Given the description of an element on the screen output the (x, y) to click on. 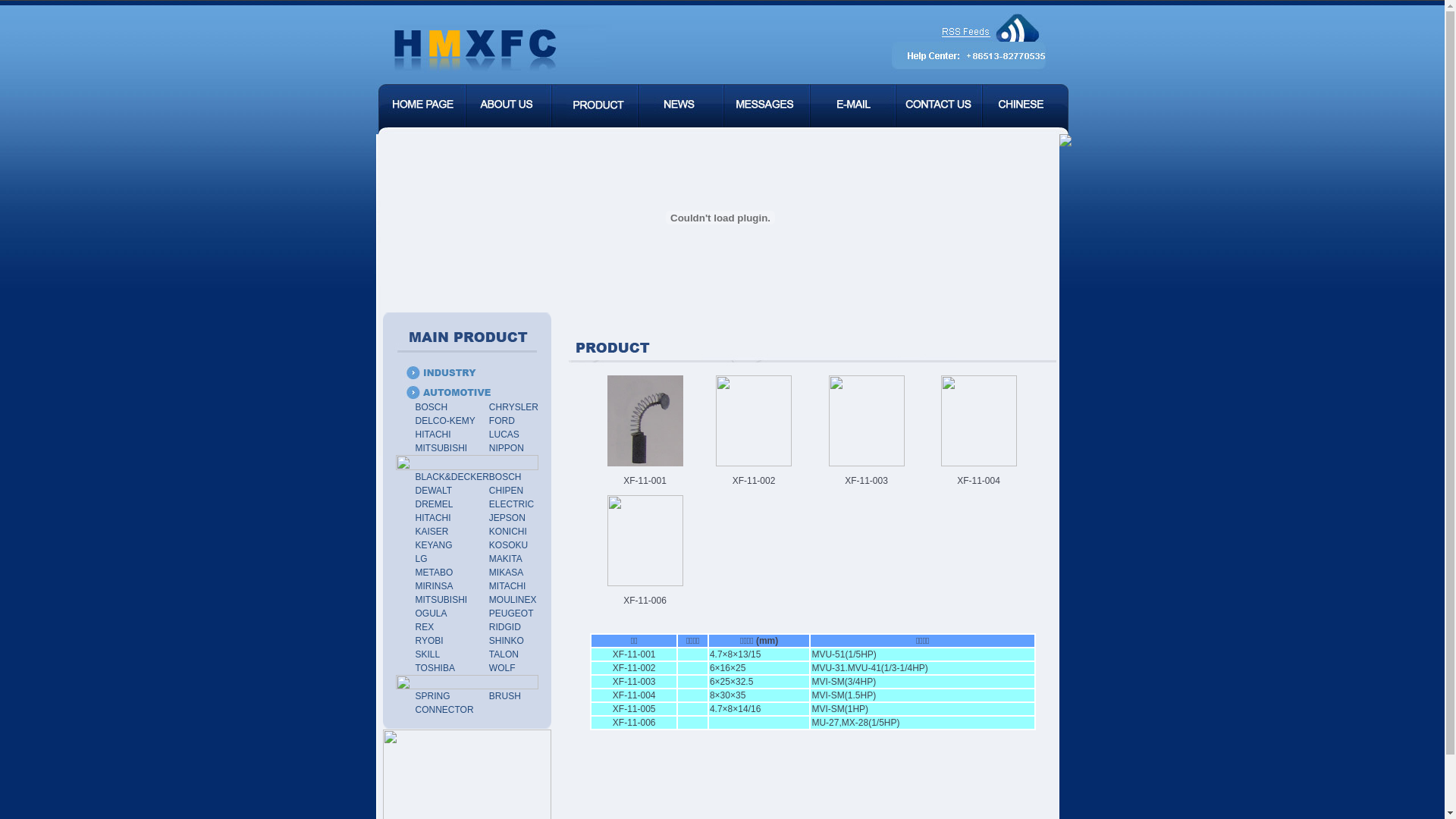
MITACHI Element type: text (507, 585)
ELECTRIC Element type: text (511, 503)
RIDGID Element type: text (504, 626)
MOULINEX Element type: text (512, 599)
WOLF Element type: text (502, 667)
CONNECTOR Element type: text (443, 709)
REX Element type: text (423, 626)
TOSHIBA Element type: text (434, 667)
LUCAS Element type: text (504, 434)
MITSUBISHI Element type: text (440, 447)
SPRING Element type: text (431, 695)
RYOBI Element type: text (428, 640)
MITSUBISHI Element type: text (440, 599)
BOSCH Element type: text (505, 476)
MIKASA Element type: text (506, 572)
MIRINSA Element type: text (433, 585)
DEWALT Element type: text (432, 490)
METABO Element type: text (433, 572)
KONICHI Element type: text (508, 531)
CHIPEN Element type: text (506, 490)
MAKITA Element type: text (505, 558)
DELCO-KEMY Element type: text (444, 420)
OGULA Element type: text (430, 613)
PEUGEOT Element type: text (511, 613)
BRUSH Element type: text (504, 695)
HITACHI Element type: text (432, 434)
FORD Element type: text (501, 420)
TALON Element type: text (503, 654)
DREMEL Element type: text (433, 503)
BLACK&DECKER Element type: text (451, 476)
SKILL Element type: text (426, 654)
SHINKO Element type: text (506, 640)
CHRYSLER Element type: text (513, 406)
JEPSON Element type: text (507, 517)
HITACHI Element type: text (432, 517)
BOSCH Element type: text (430, 406)
NIPPON Element type: text (506, 447)
KEYANG Element type: text (432, 544)
LG Element type: text (420, 558)
KOSOKU Element type: text (508, 544)
KAISER Element type: text (431, 531)
